Given the description of an element on the screen output the (x, y) to click on. 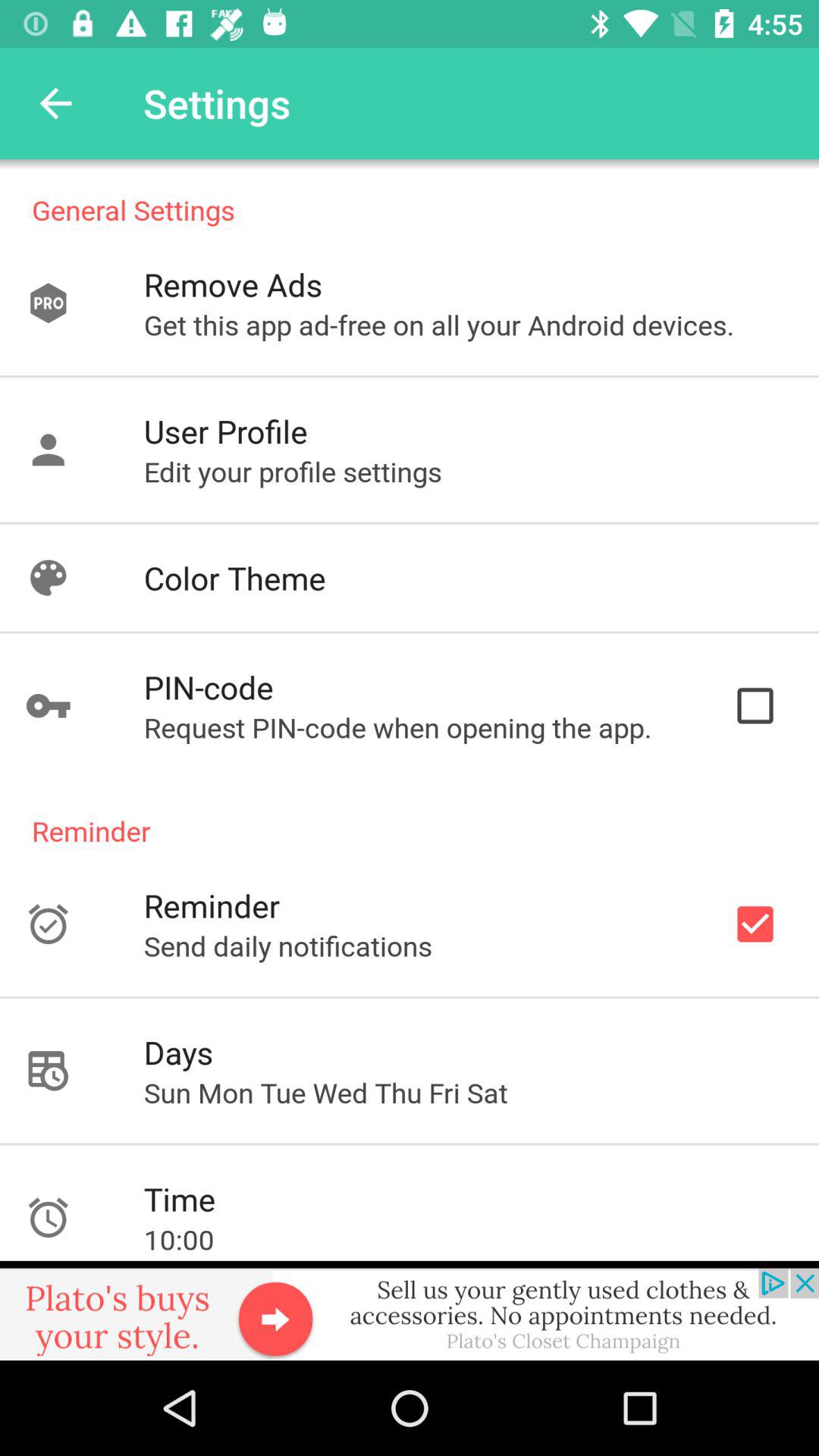
open advert (409, 1310)
